Given the description of an element on the screen output the (x, y) to click on. 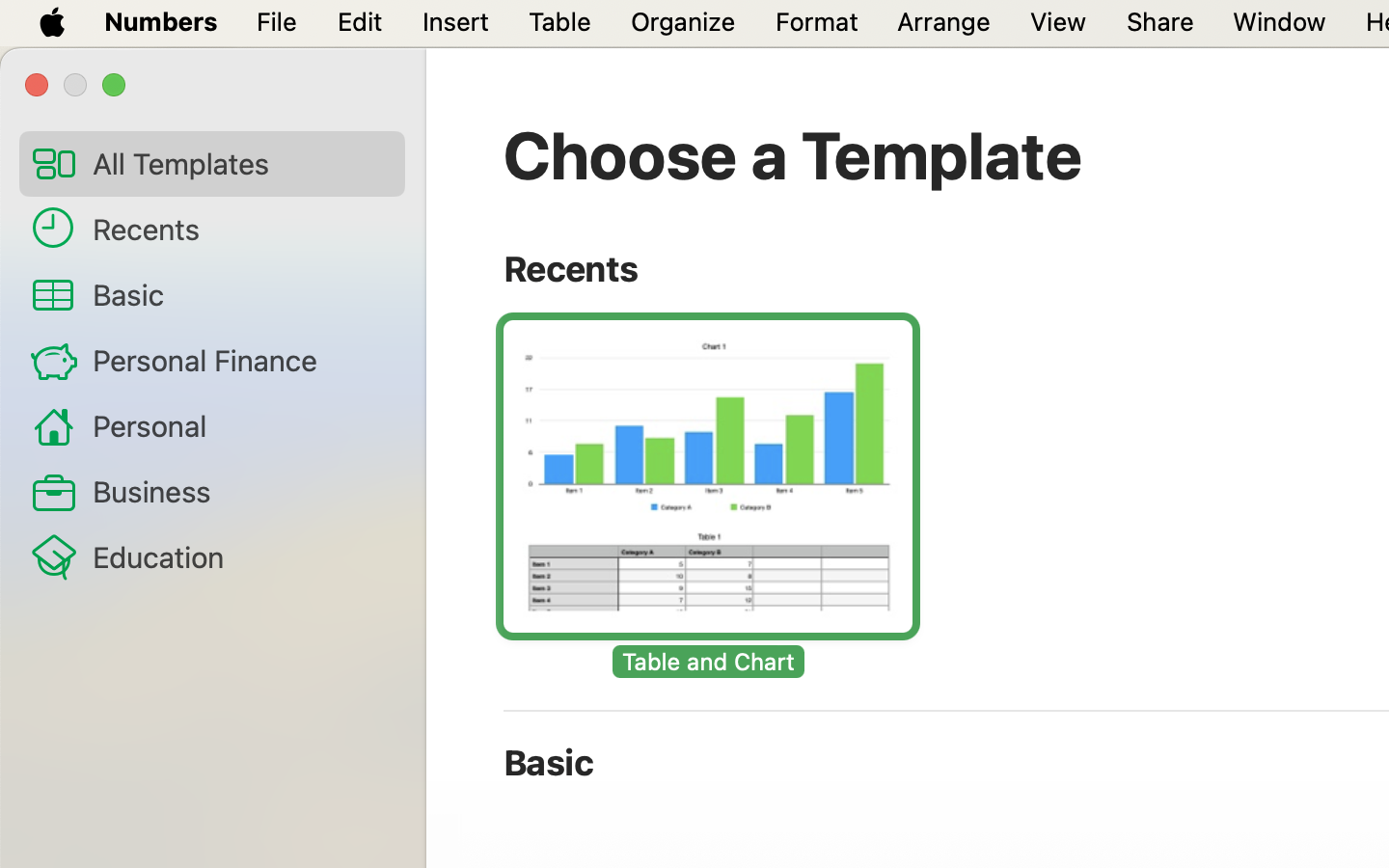
Choose a Template Element type: AXStaticText (792, 153)
Education Element type: AXStaticText (240, 556)
Business Element type: AXStaticText (240, 490)
Basic Element type: AXStaticText (240, 293)
Personal Element type: AXStaticText (240, 424)
